Given the description of an element on the screen output the (x, y) to click on. 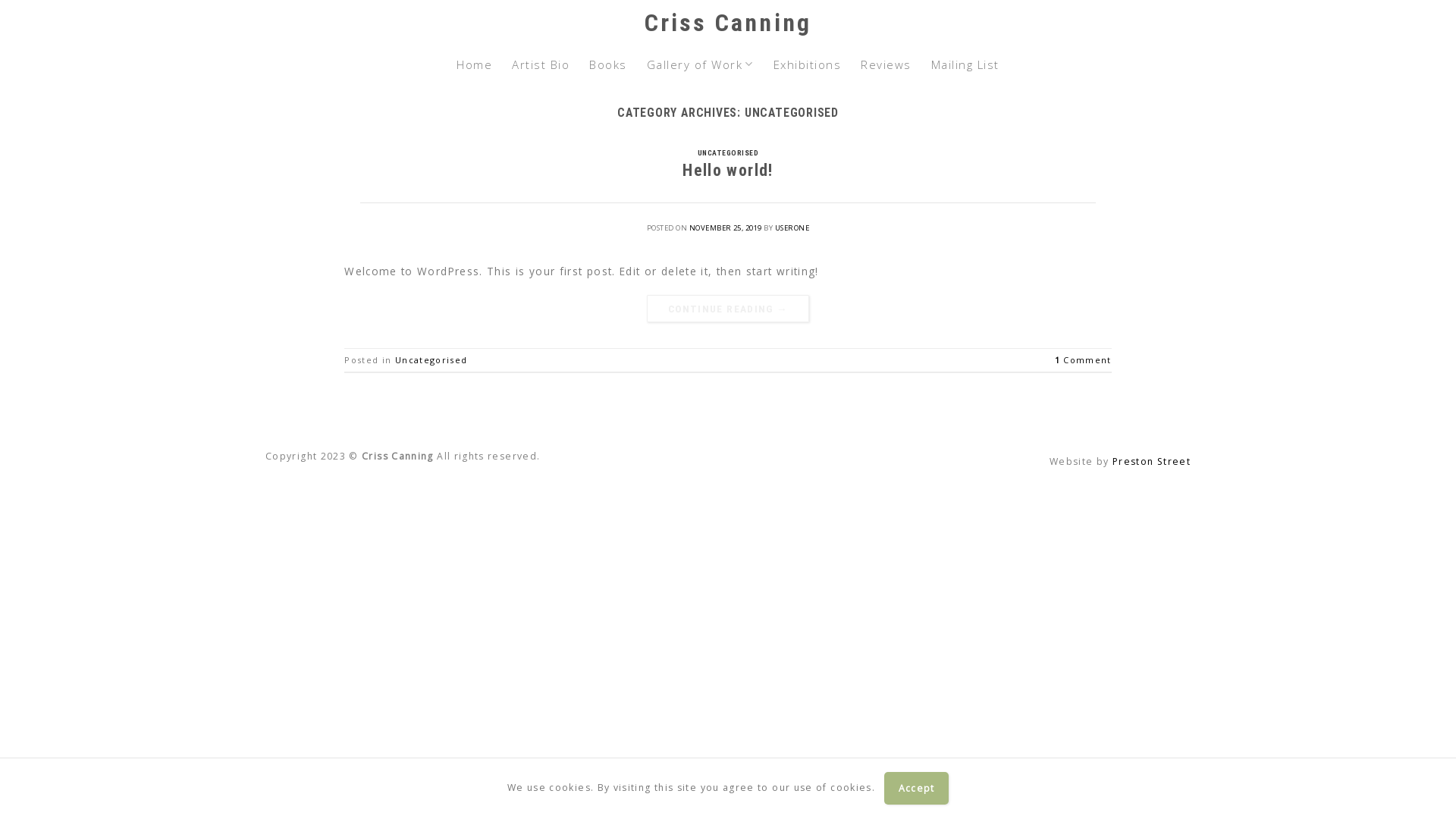
Books Element type: text (607, 64)
Artist Bio Element type: text (540, 64)
NOVEMBER 25, 2019 Element type: text (725, 227)
Preston Street Element type: text (1151, 461)
Reviews Element type: text (885, 64)
Exhibitions Element type: text (806, 64)
Hello world! Element type: text (727, 169)
UNCATEGORISED Element type: text (727, 152)
Uncategorised Element type: text (431, 359)
Criss Canning Element type: text (727, 22)
Home Element type: text (474, 64)
1 Comment Element type: text (1082, 359)
USERONE Element type: text (792, 227)
Gallery of Work Element type: text (699, 64)
Mailing List Element type: text (965, 64)
